Given the description of an element on the screen output the (x, y) to click on. 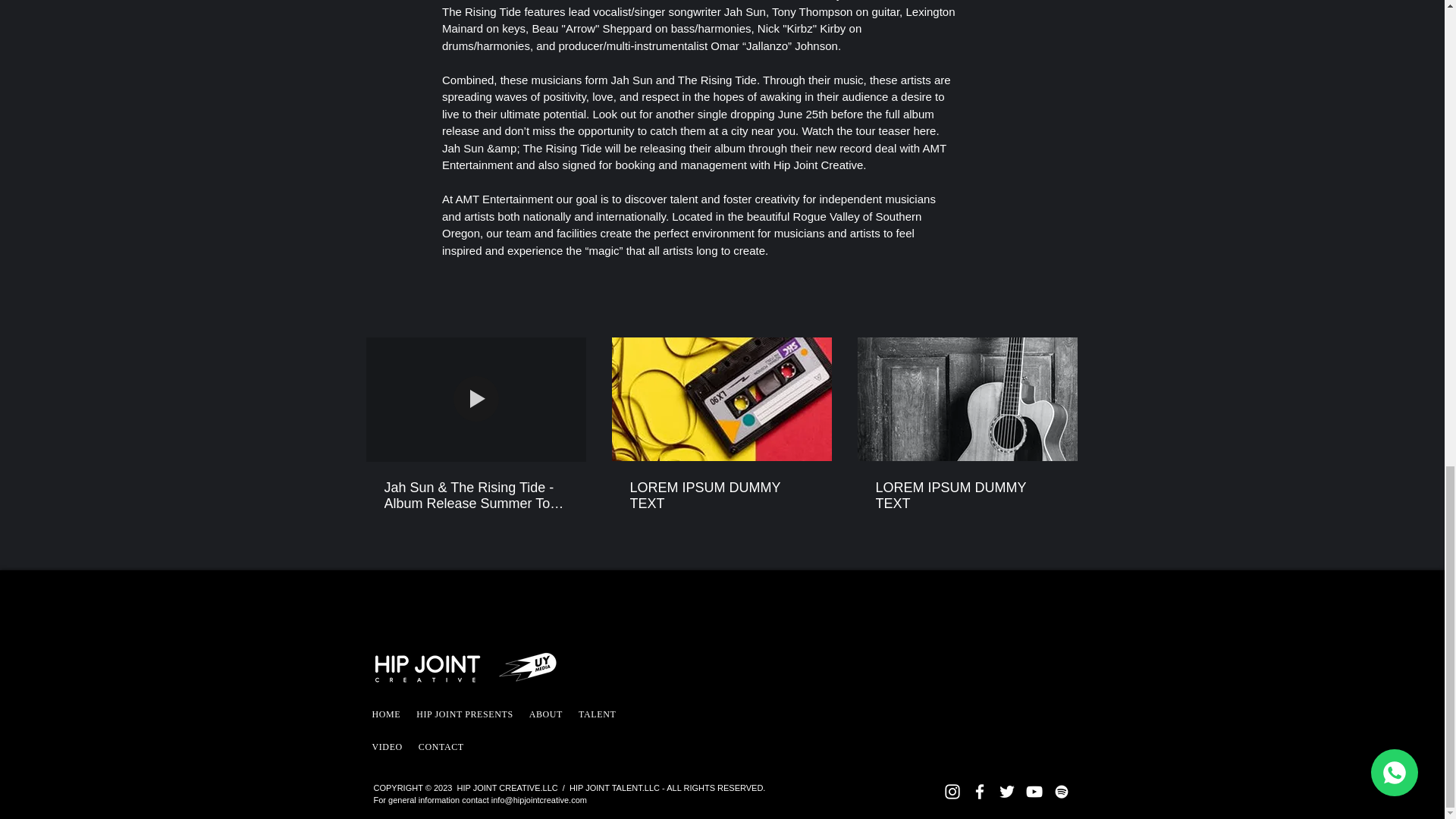
LOREM IPSUM DUMMY TEXT (966, 495)
CONTACT (441, 746)
ABOUT (545, 714)
VIDEO (386, 746)
TALENT (596, 714)
HOME (385, 714)
HIP JOINT PRESENTS (464, 714)
LOREM IPSUM DUMMY TEXT (720, 495)
